Given the description of an element on the screen output the (x, y) to click on. 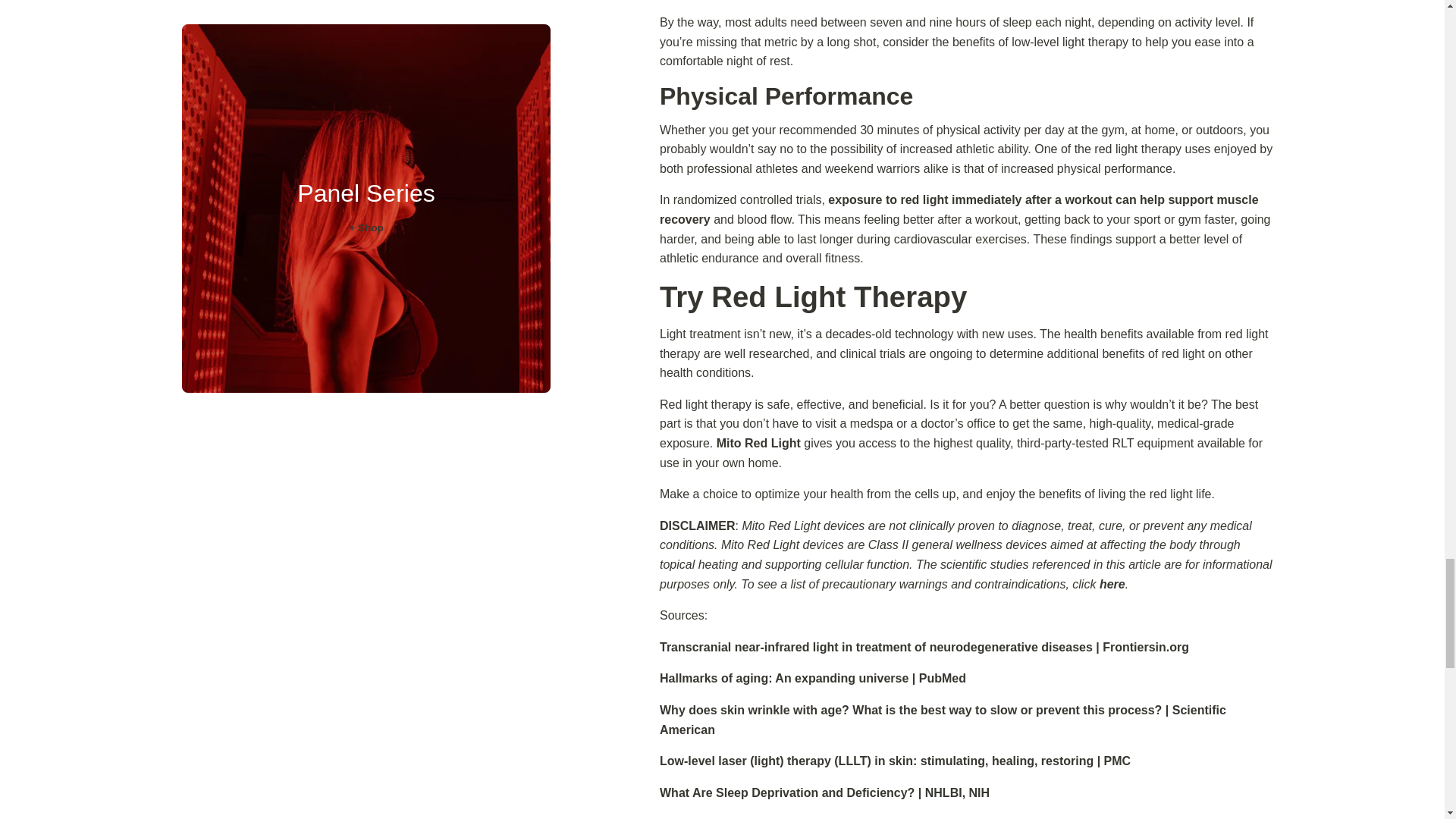
here (1112, 584)
Mito Red Light (758, 442)
Contraindications for red light therapy (1112, 584)
